Given the description of an element on the screen output the (x, y) to click on. 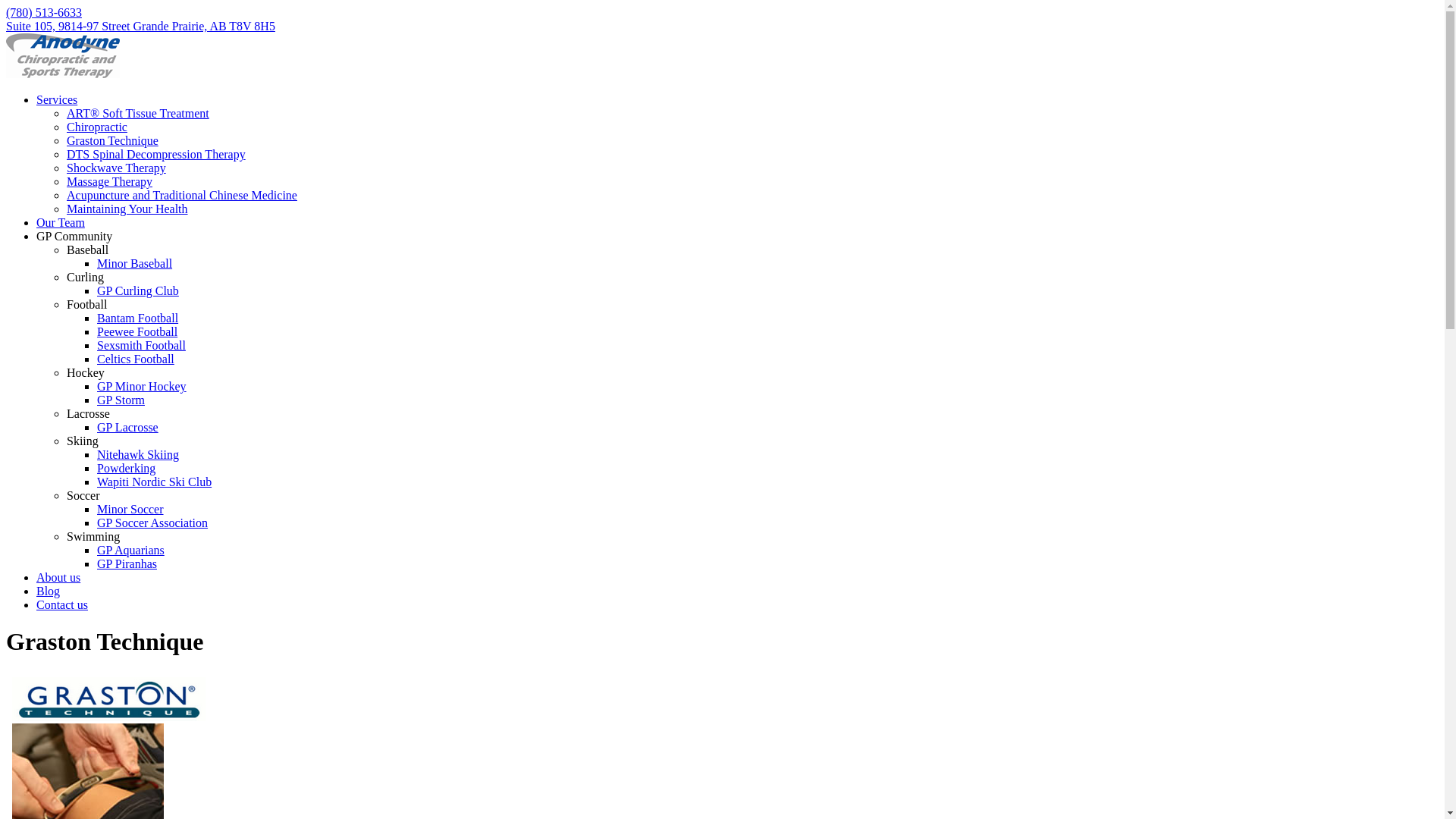
Chiropractic Element type: text (96, 126)
Minor Baseball Element type: text (134, 263)
Swimming Element type: text (92, 536)
Wapiti Nordic Ski Club Element type: text (154, 481)
Massage Therapy Element type: text (109, 181)
Skiing Element type: text (82, 440)
GP Community Element type: text (74, 235)
Football Element type: text (86, 304)
GP Storm Element type: text (120, 399)
GP Aquarians Element type: text (130, 549)
Minor Soccer Element type: text (130, 508)
Celtics Football Element type: text (135, 358)
Hockey Element type: text (85, 372)
Baseball Element type: text (87, 249)
Powderking Element type: text (126, 467)
Bantam Football Element type: text (137, 317)
Peewee Football Element type: text (137, 331)
GP Piranhas Element type: text (126, 563)
Blog Element type: text (47, 590)
Suite 105, 9814-97 Street Grande Prairie, AB T8V 8H5 Element type: text (140, 25)
(780) 513-6633 Element type: text (43, 12)
Maintaining Your Health Element type: text (127, 208)
Our Team Element type: text (60, 222)
GP Lacrosse Element type: text (127, 426)
Soccer Element type: text (83, 495)
Lacrosse Element type: text (87, 413)
GP Curling Club Element type: text (137, 290)
Sexsmith Football Element type: text (141, 344)
Curling Element type: text (84, 276)
DTS Spinal Decompression Therapy Element type: text (155, 153)
About us Element type: text (58, 577)
Shockwave Therapy Element type: text (116, 167)
GP Minor Hockey Element type: text (141, 385)
Graston Technique Element type: text (112, 140)
Services Element type: text (56, 99)
Acupuncture and Traditional Chinese Medicine Element type: text (181, 194)
GP Soccer Association Element type: text (152, 522)
Contact us Element type: text (61, 604)
Nitehawk Skiing Element type: text (137, 454)
